Given the description of an element on the screen output the (x, y) to click on. 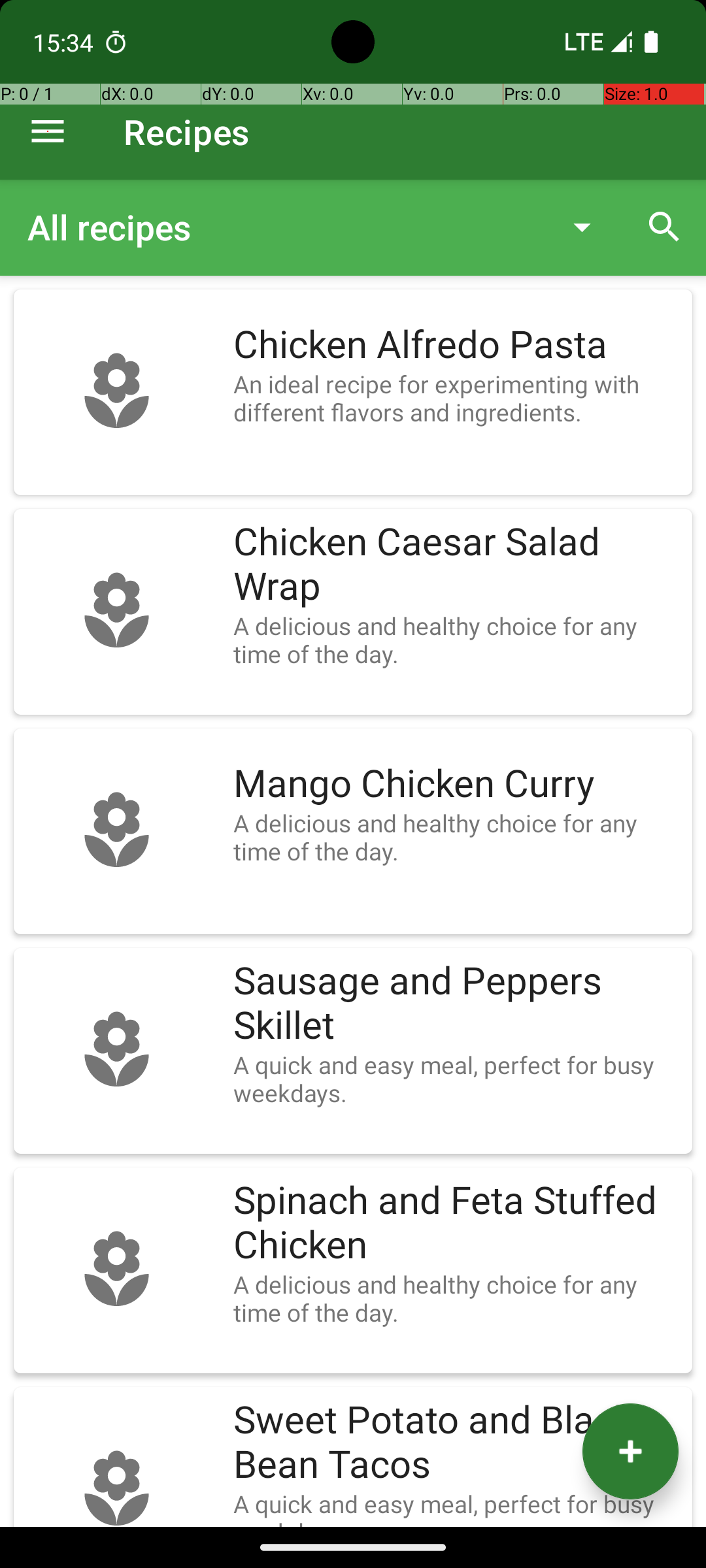
Mango Chicken Curry Element type: android.widget.TextView (455, 783)
Sausage and Peppers Skillet Element type: android.widget.TextView (455, 1003)
Spinach and Feta Stuffed Chicken Element type: android.widget.TextView (455, 1222)
Sweet Potato and Black Bean Tacos Element type: android.widget.TextView (455, 1442)
